Given the description of an element on the screen output the (x, y) to click on. 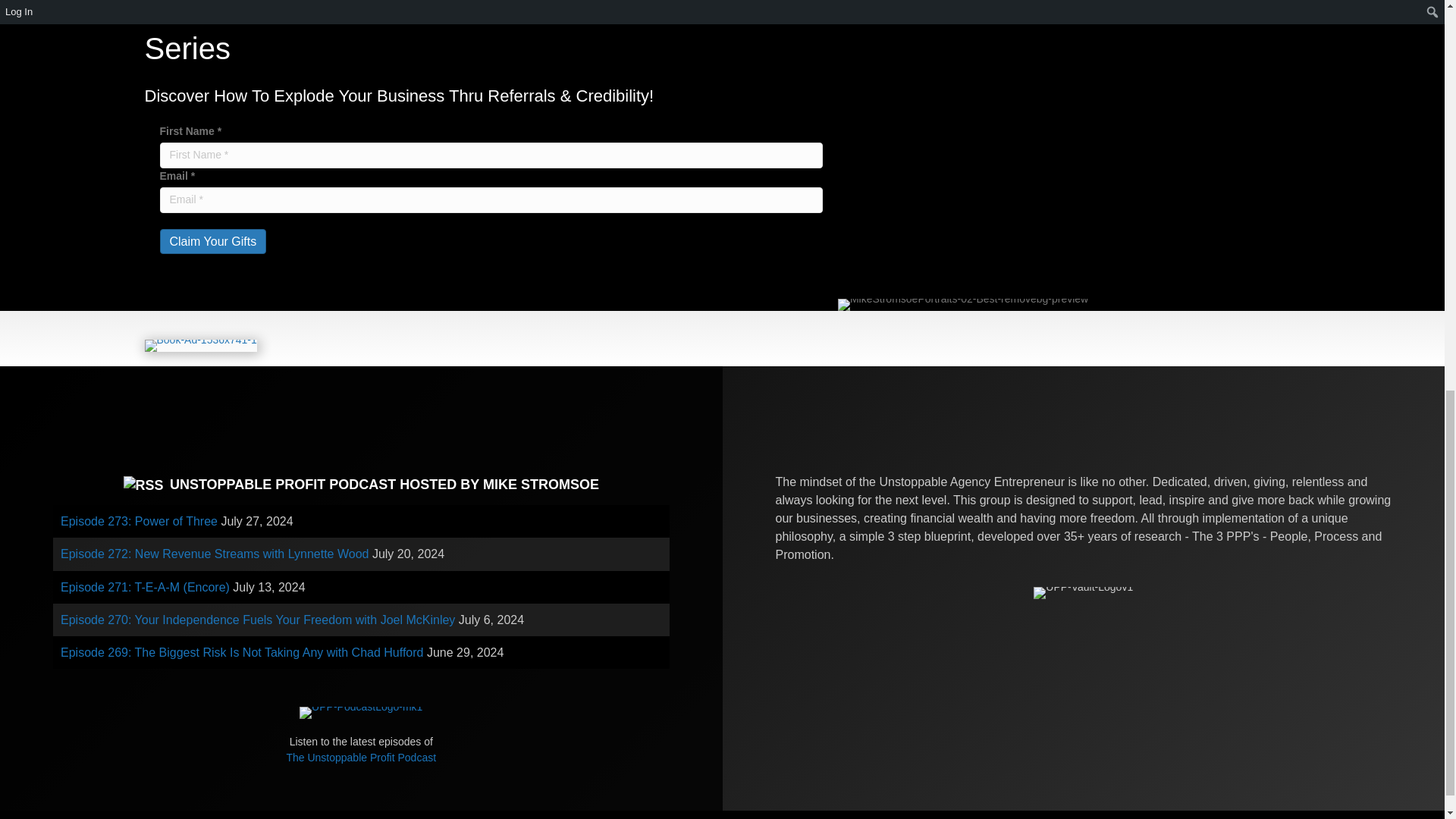
UNSTOPPABLE PROFIT PODCAST HOSTED BY MIKE STROMSOE (384, 484)
Book-Ad-1536x741-1 (200, 345)
Claim Your Gifts (212, 241)
UPP-PodcastLogo-mk1 (360, 712)
UPP-Vault-Logov1 (1082, 592)
Episode 273: Power of Three (138, 521)
MikeStromsoePortraits-02-Best-removebg-preview (962, 304)
